Given the description of an element on the screen output the (x, y) to click on. 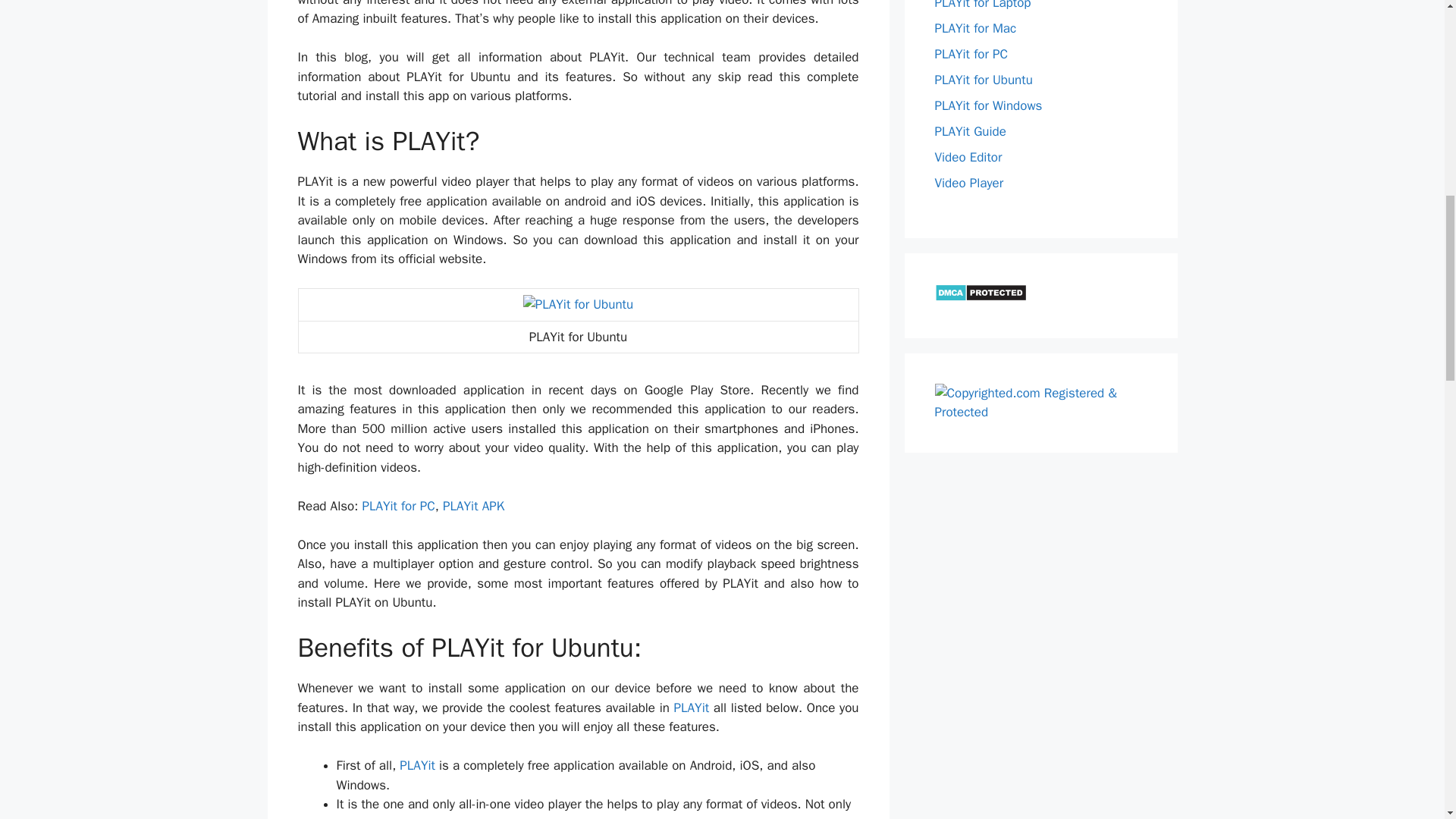
PLAYit for Laptop (982, 4)
PLAYit APK (472, 505)
PLAYit for PC (397, 505)
PLAYit for Mac (975, 27)
PLAYit for PC (970, 53)
PLAYit (692, 707)
PLAYit for Ubuntu (577, 304)
PLAYit (416, 765)
